Given the description of an element on the screen output the (x, y) to click on. 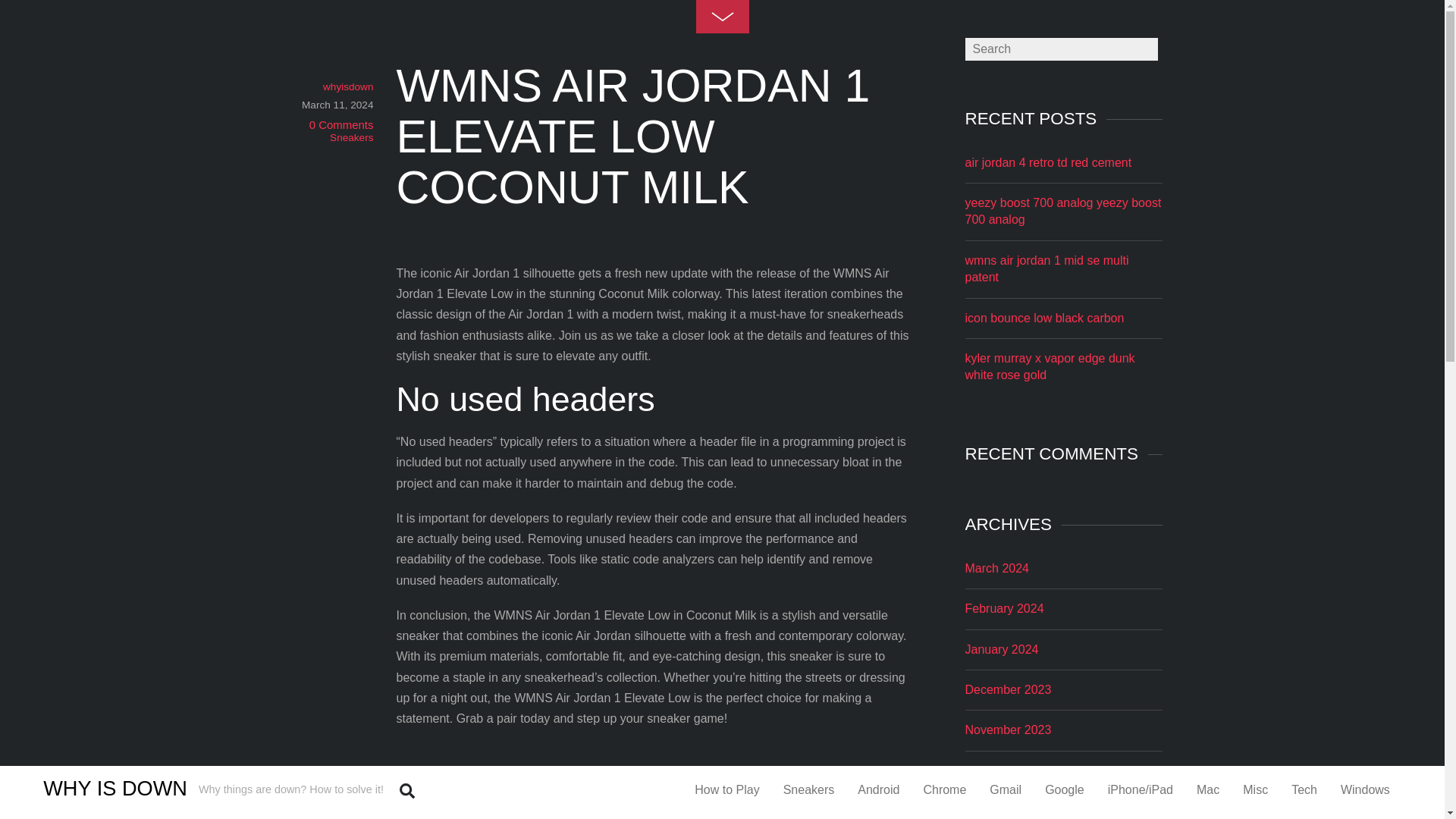
Chrome (943, 788)
March 2024 (996, 567)
Google (1064, 788)
November 2021 (1007, 770)
Gmail (1005, 788)
Sneakers (808, 788)
Mac (1207, 788)
kyler murray x vapor edge dunk white rose gold (1048, 366)
yeezy boost 700 analog yeezy boost 700 analog (1061, 211)
Misc (1255, 788)
November 2023 (1007, 729)
Android (878, 788)
icon bounce low black carbon (1043, 318)
WMNS AIR JORDAN 1 ELEVATE LOW COCONUT MILK (632, 135)
December 2023 (1007, 689)
